Given the description of an element on the screen output the (x, y) to click on. 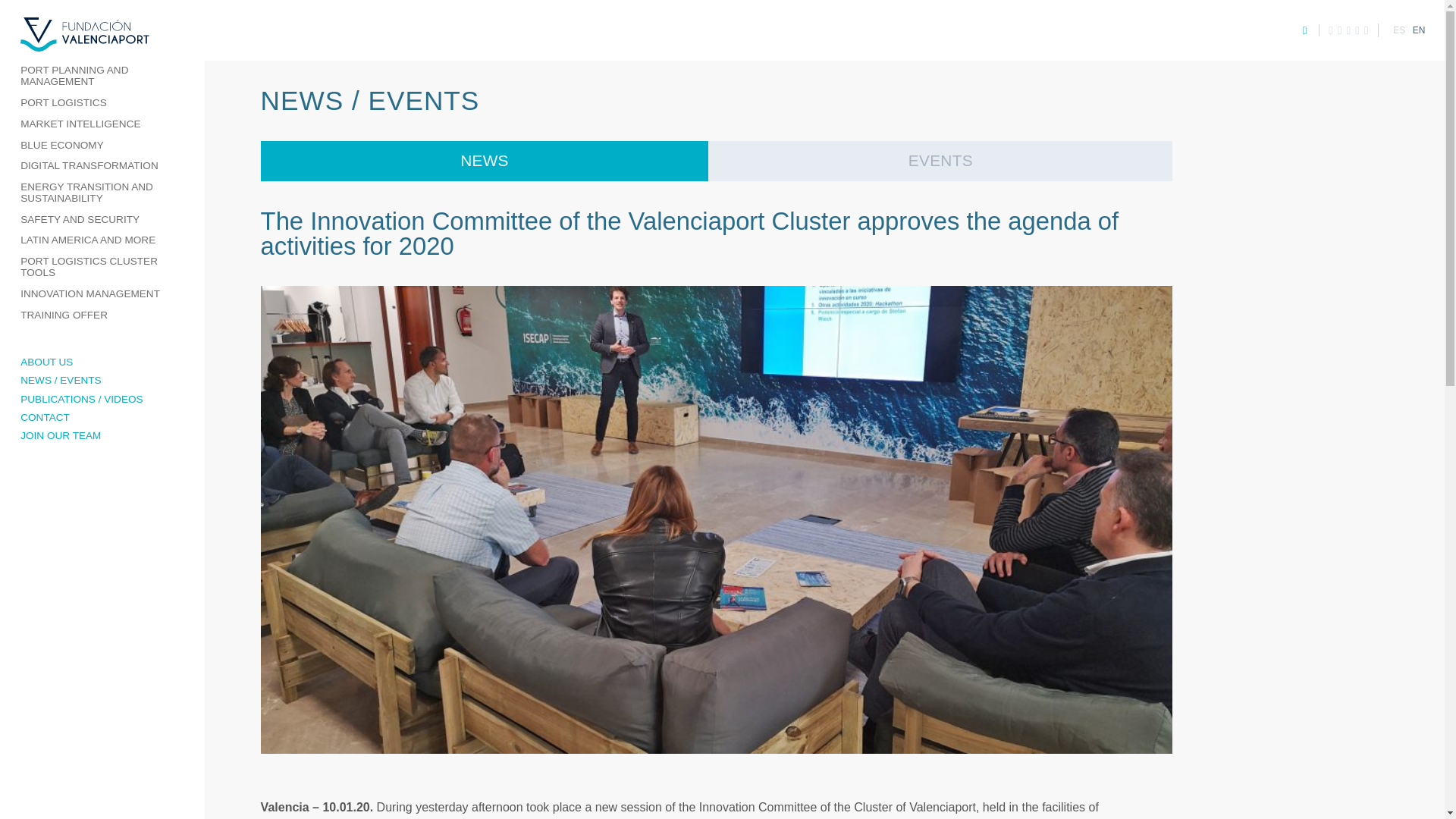
ABOUT US (102, 361)
JOIN OUR TEAM (102, 435)
CONTACT (102, 417)
INNOVATION MANAGEMENT (102, 293)
PORT LOGISTICS (102, 103)
PORT PLANNING AND MANAGEMENT (102, 76)
DIGITAL TRANSFORMATION (102, 166)
PORT LOGISTICS CLUSTER TOOLS (102, 267)
ENERGY TRANSITION AND SUSTAINABILITY (102, 193)
LATIN AMERICA AND MORE (102, 240)
